Given the description of an element on the screen output the (x, y) to click on. 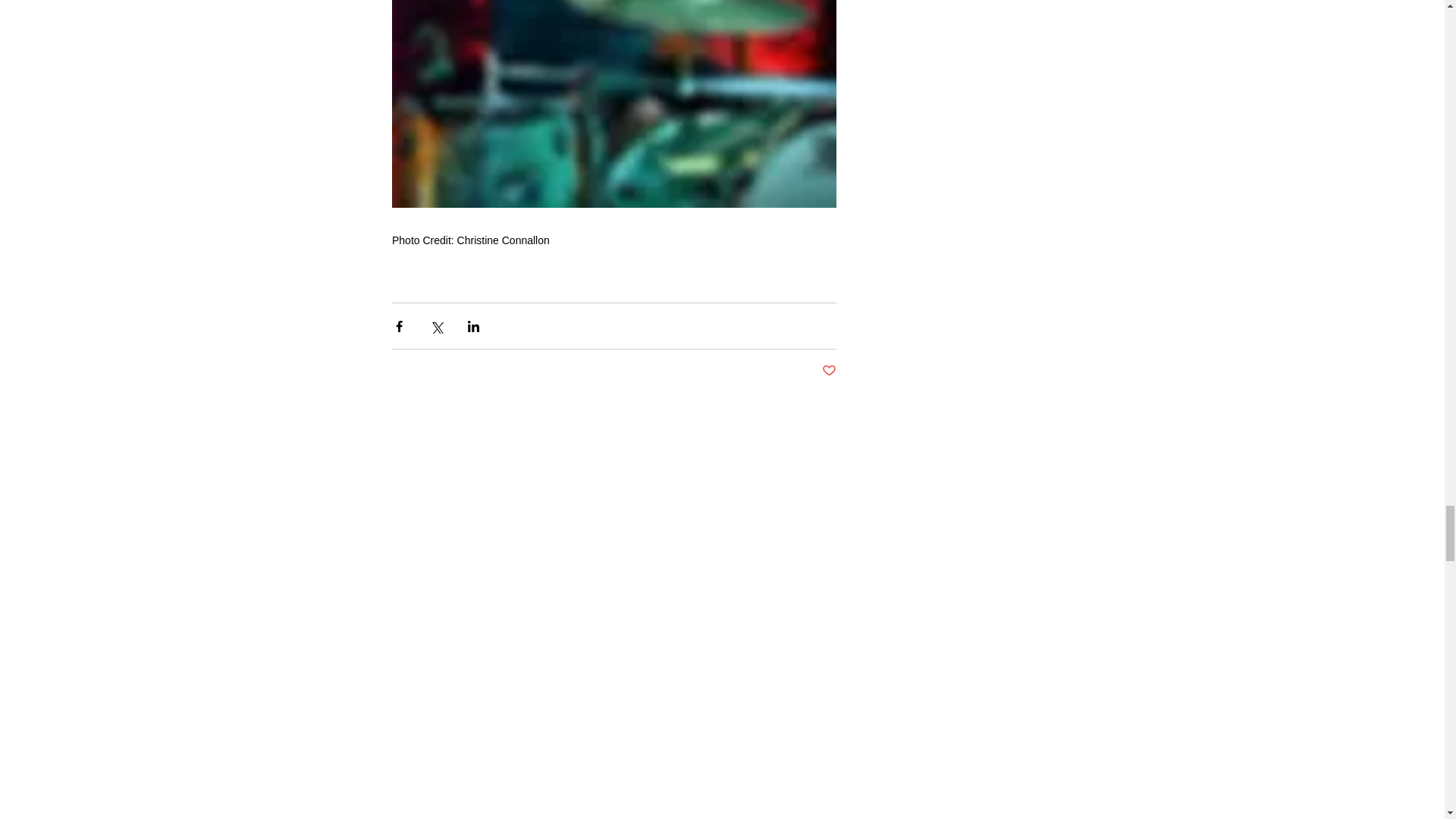
Post not marked as liked (828, 371)
